Given the description of an element on the screen output the (x, y) to click on. 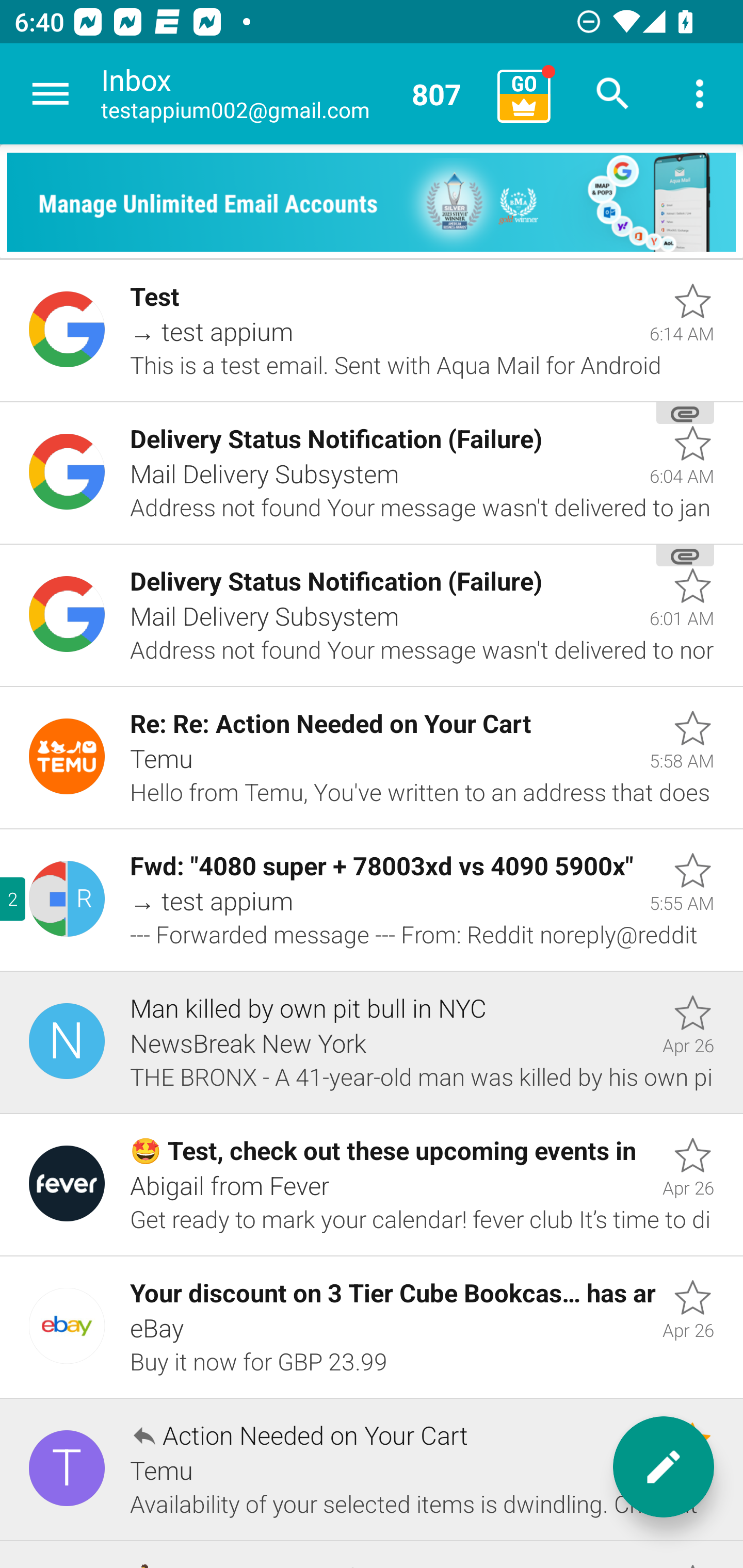
Navigate up (50, 93)
Inbox testappium002@gmail.com 807 (291, 93)
Search (612, 93)
More options (699, 93)
New message (663, 1466)
